Given the description of an element on the screen output the (x, y) to click on. 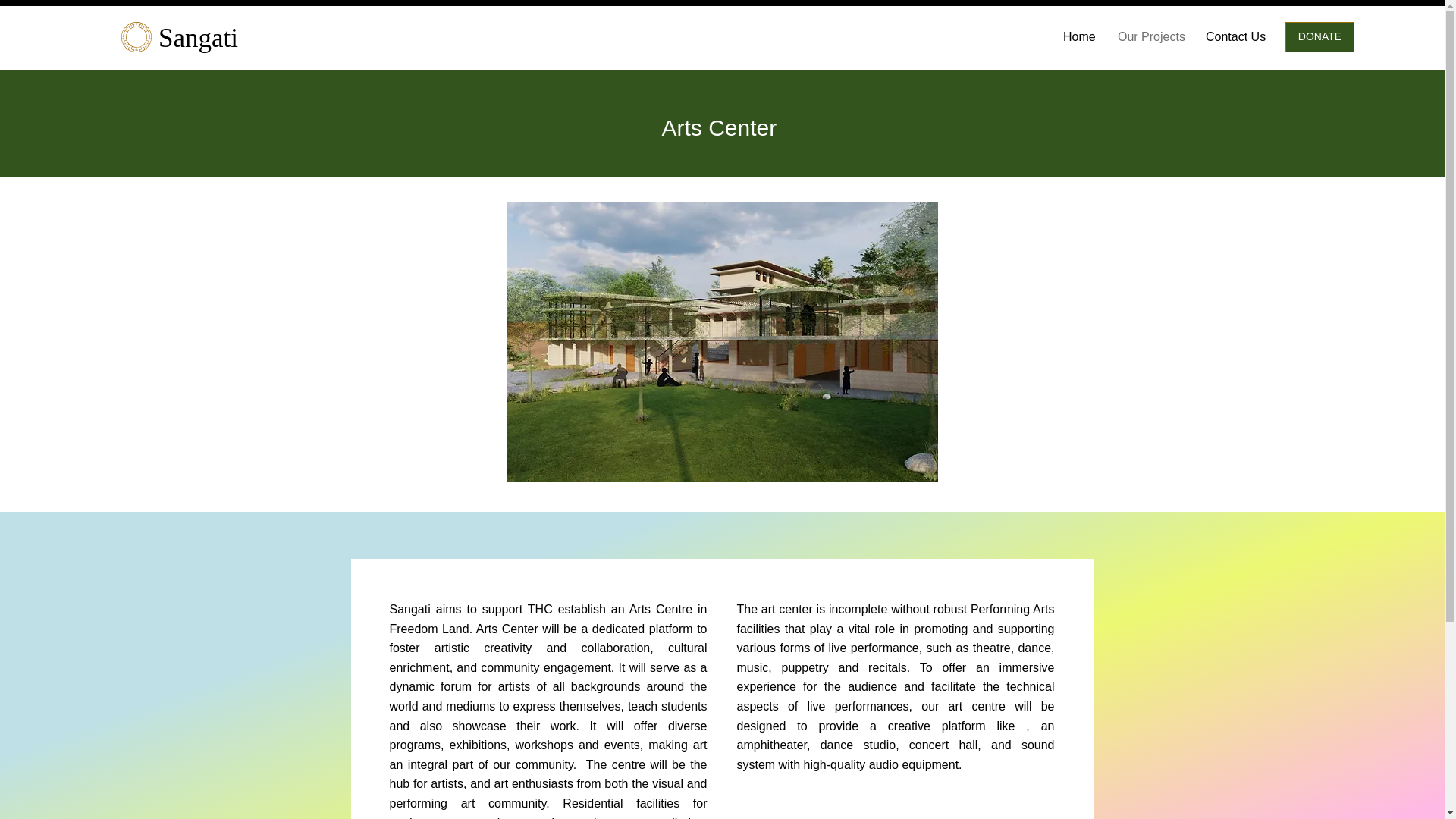
Sangati (198, 38)
DONATE (1319, 37)
Contact Us (1234, 37)
Home (1078, 37)
Our Projects (1149, 37)
